Given the description of an element on the screen output the (x, y) to click on. 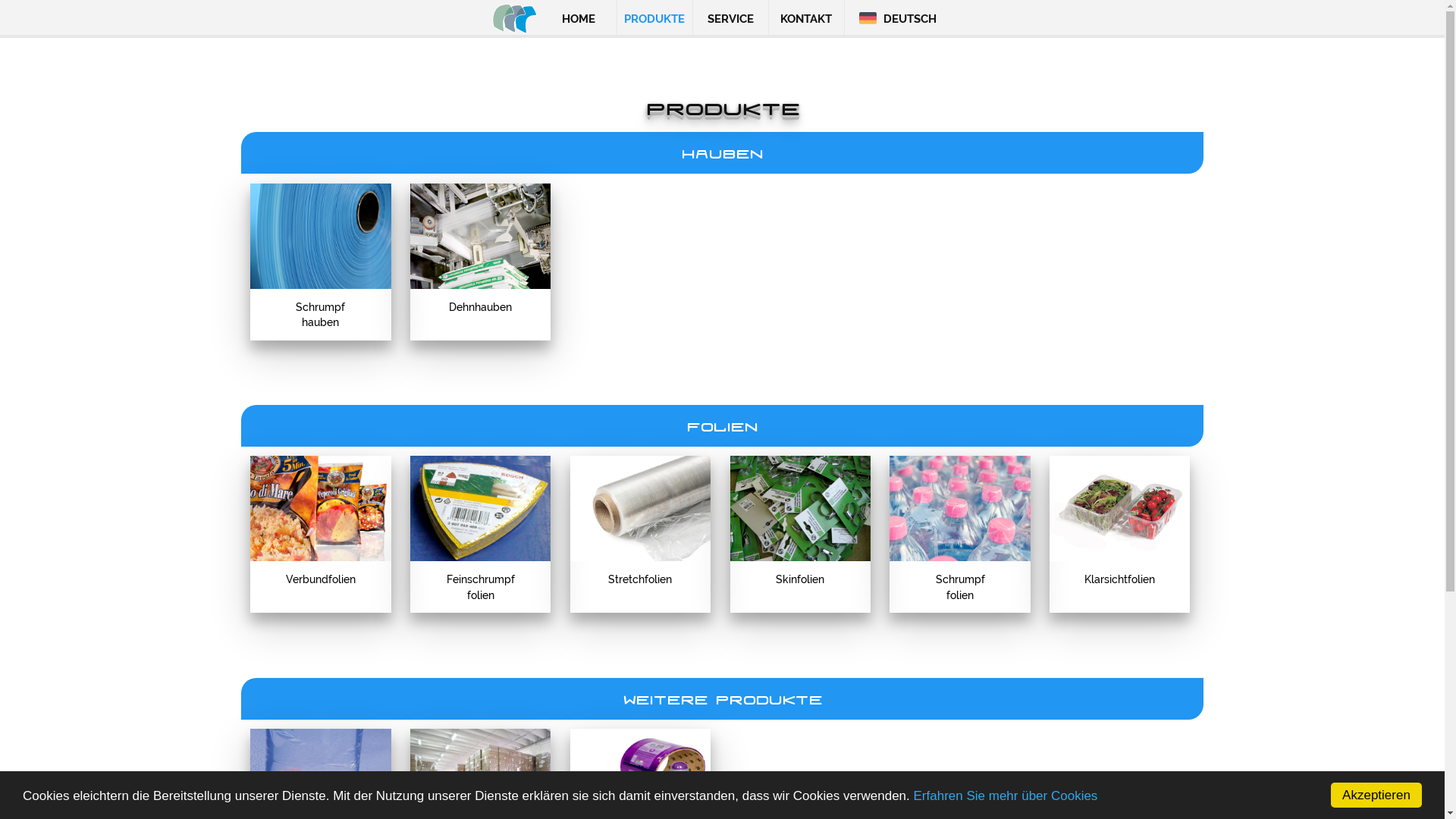
Credits Element type: text (1061, 803)
SERVICE Element type: text (730, 18)
  DEUTSCH Element type: text (897, 18)
KONTAKT Element type: text (806, 18)
Akzeptieren Element type: text (1375, 794)
PRODUKTE Element type: text (655, 18)
HOME Element type: text (579, 18)
